Given the description of an element on the screen output the (x, y) to click on. 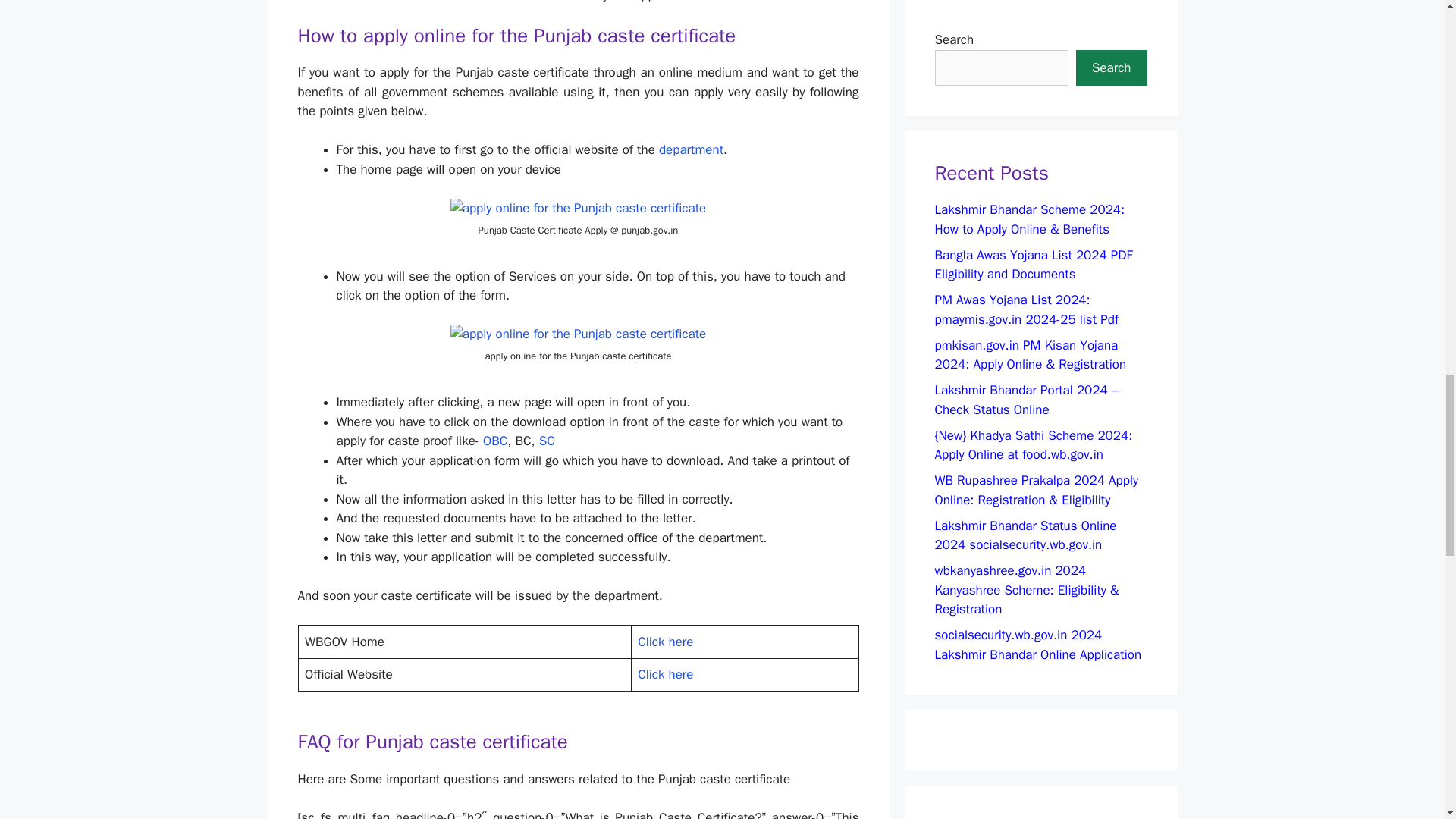
department (691, 149)
Click here (665, 674)
OBC (494, 440)
departments (691, 149)
Click here (665, 641)
OBC (494, 440)
SC (546, 440)
